Given the description of an element on the screen output the (x, y) to click on. 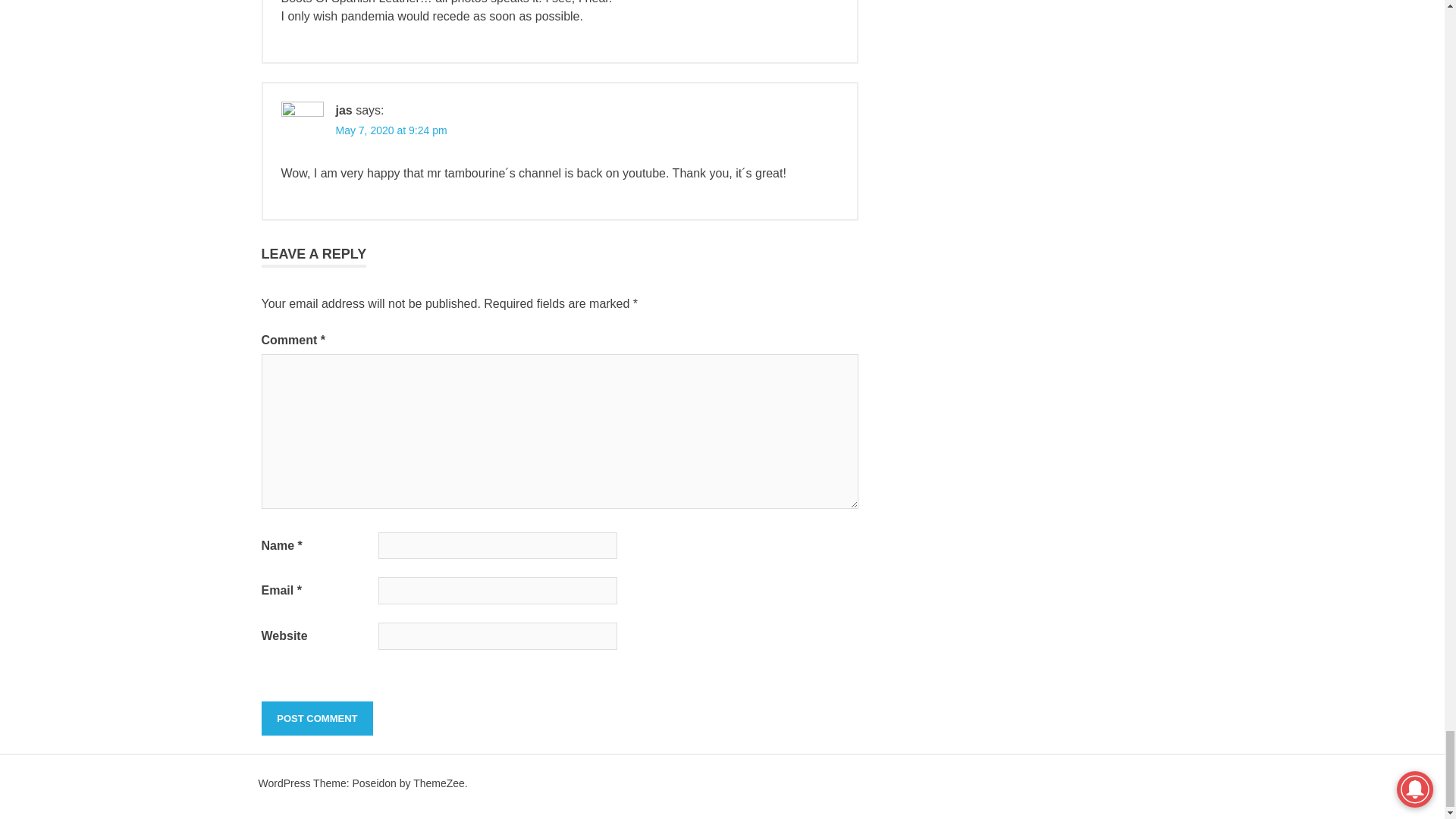
May 7, 2020 at 9:24 pm (390, 130)
Post Comment (316, 718)
Post Comment (316, 718)
